Given the description of an element on the screen output the (x, y) to click on. 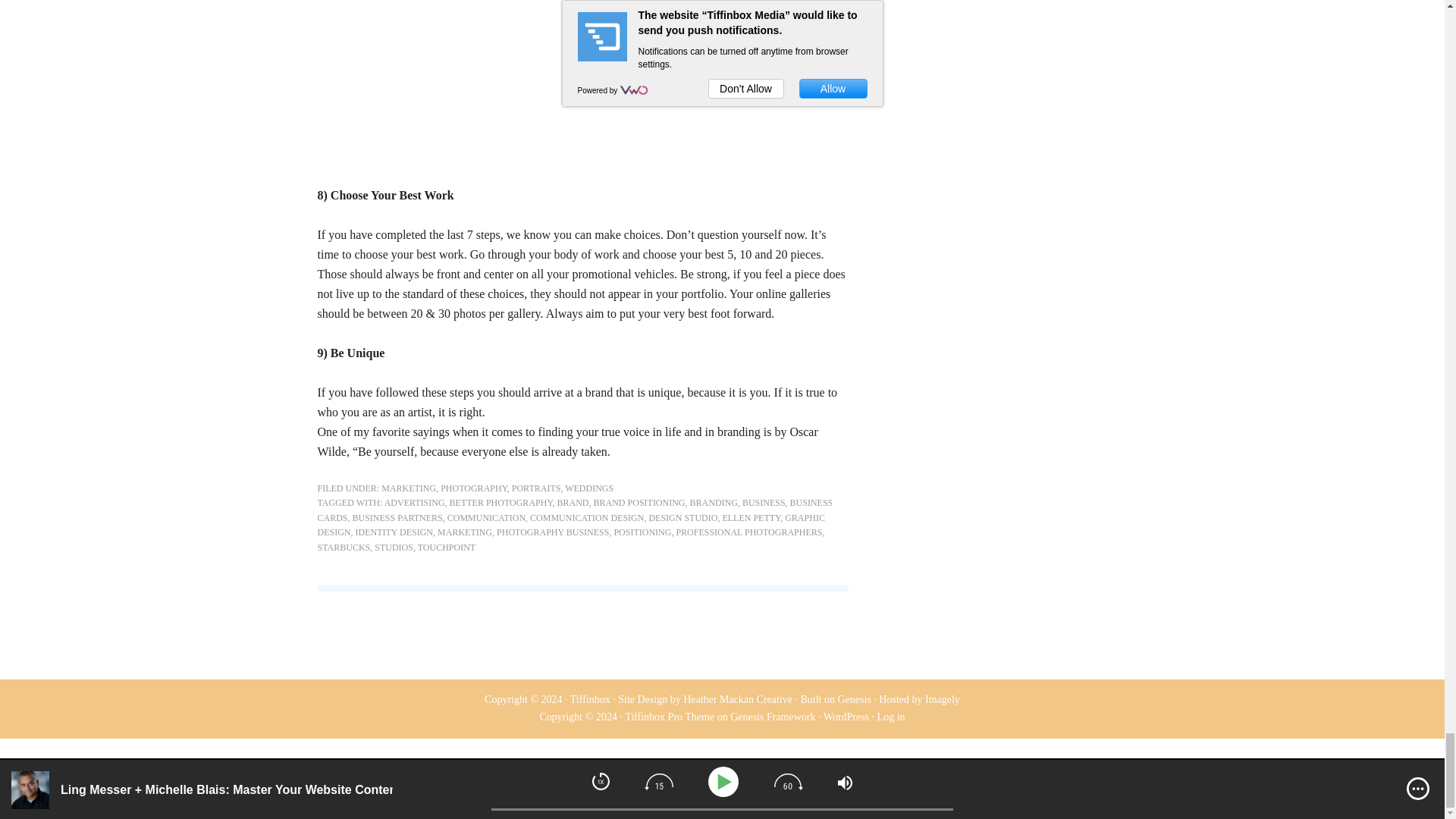
Partridge Lane Home Page (582, 83)
Heather Mackan Creative (737, 699)
Genesis (853, 699)
